Given the description of an element on the screen output the (x, y) to click on. 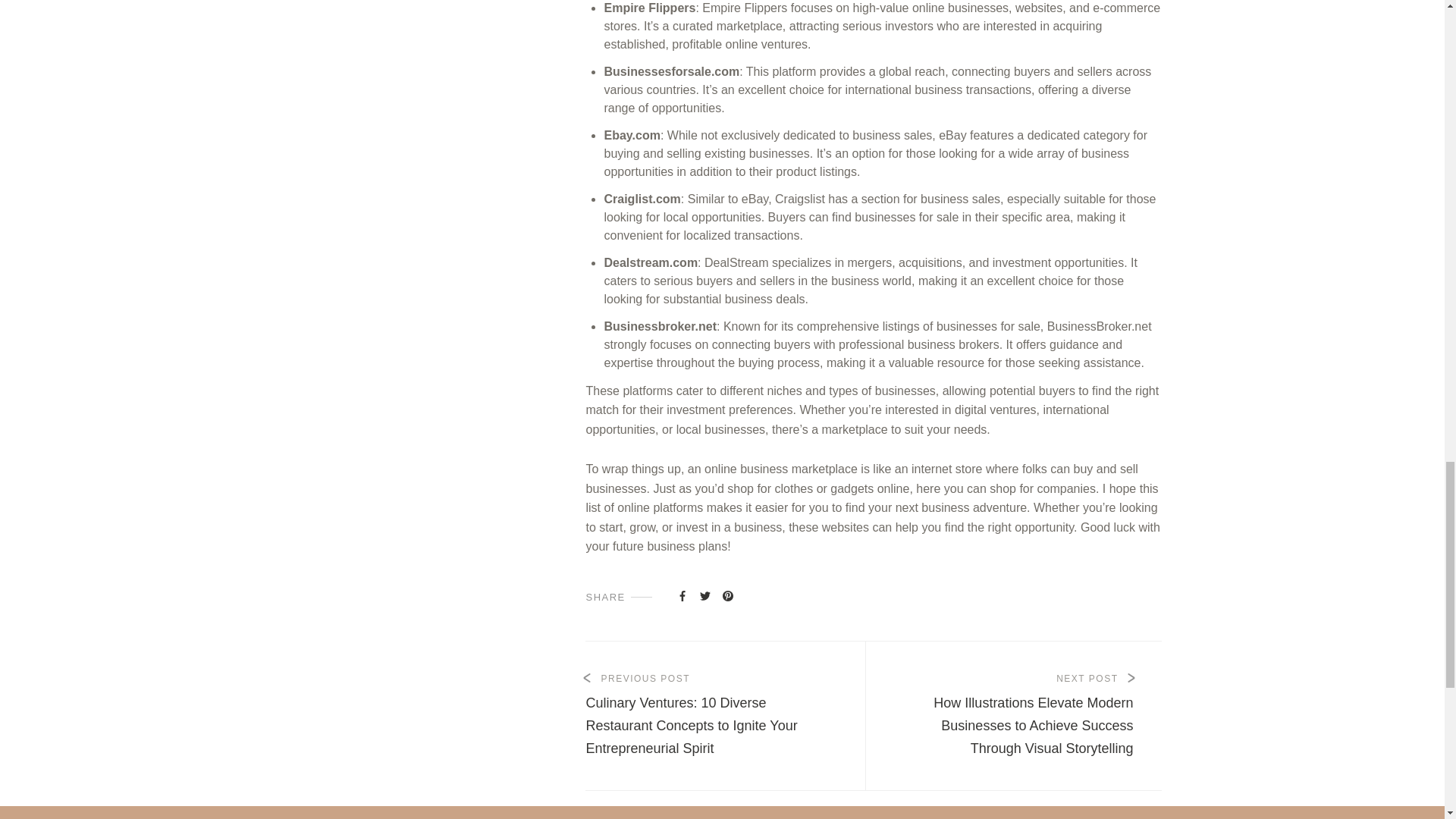
Best places to find businesses for sale near (705, 595)
Best places to find businesses for sale near (727, 595)
Best places to find businesses for sale near (682, 595)
